Given the description of an element on the screen output the (x, y) to click on. 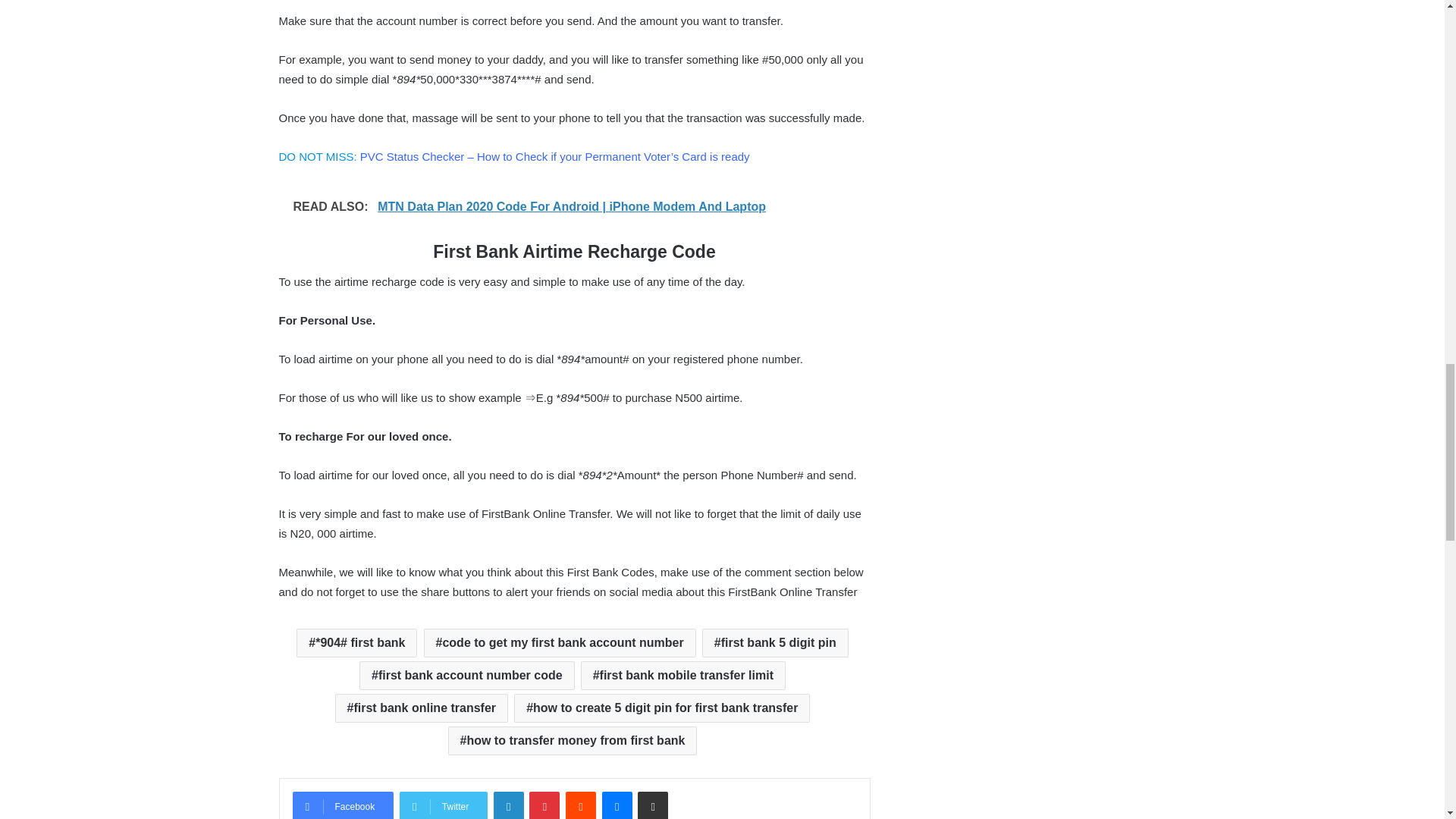
Twitter (442, 805)
first bank account number code (467, 675)
code to get my first bank account number (559, 642)
first bank online transfer (421, 707)
how to transfer money from first bank (572, 740)
how to create 5 digit pin for first bank transfer (661, 707)
Reddit (580, 805)
Share via Email (652, 805)
Facebook (343, 805)
LinkedIn (508, 805)
